Given the description of an element on the screen output the (x, y) to click on. 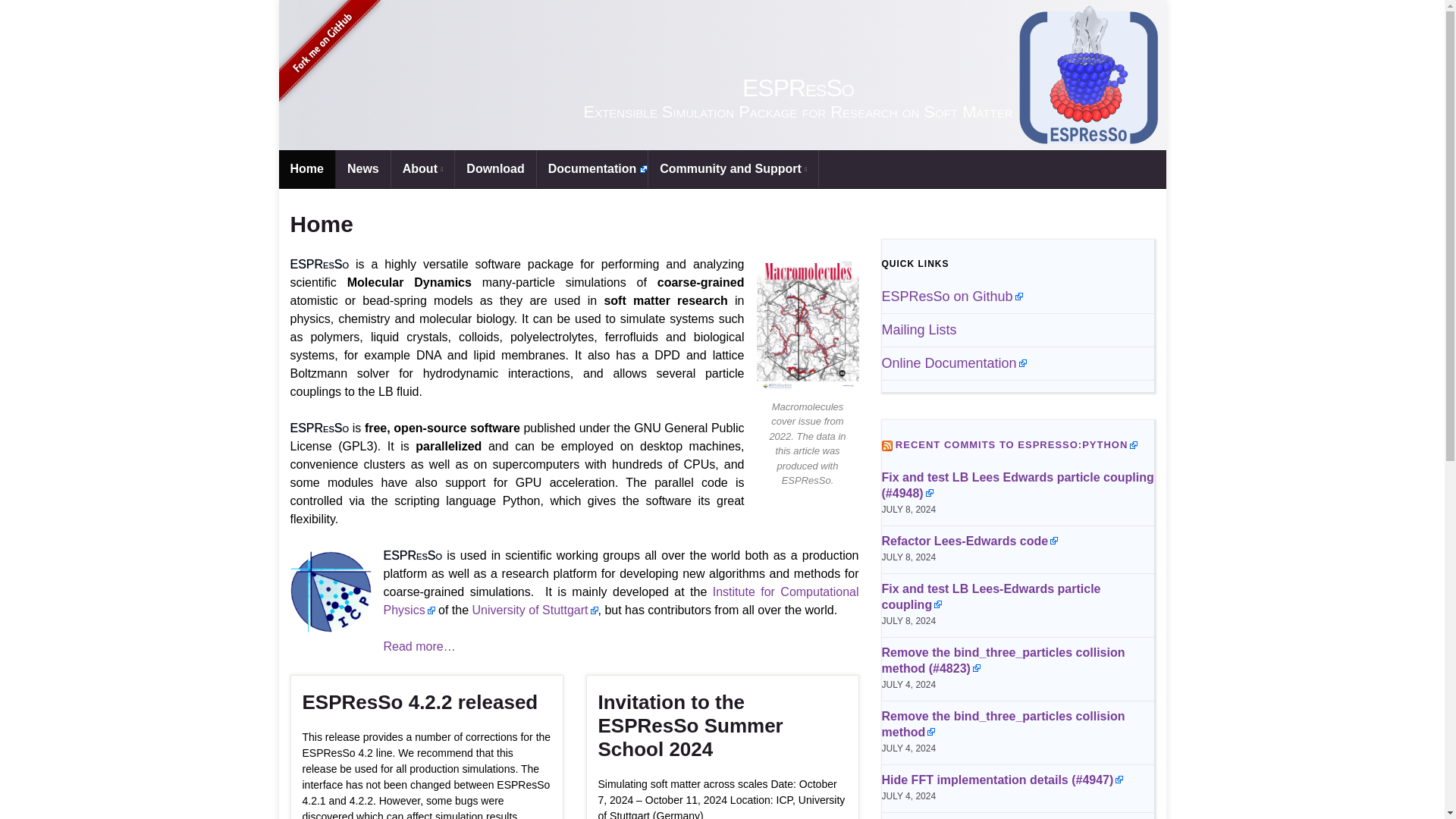
Institute for Computational Physics (621, 600)
ESPResSo on Github (951, 296)
University of Stuttgart (534, 609)
Invitation to the ESPResSo Summer School 2024 (720, 726)
RECENT COMMITS TO ESPRESSO:PYTHON (1016, 444)
About (422, 168)
Mailing Lists (918, 329)
Community and Support (732, 168)
Documentation (592, 168)
Permalink to Invitation to the ESPResSo Summer School 2024 (720, 726)
icplogo (330, 591)
Institute for Computational Physics (621, 600)
ESPResSo (722, 74)
News (363, 168)
Refactor Lees-Edwards code (969, 540)
